Given the description of an element on the screen output the (x, y) to click on. 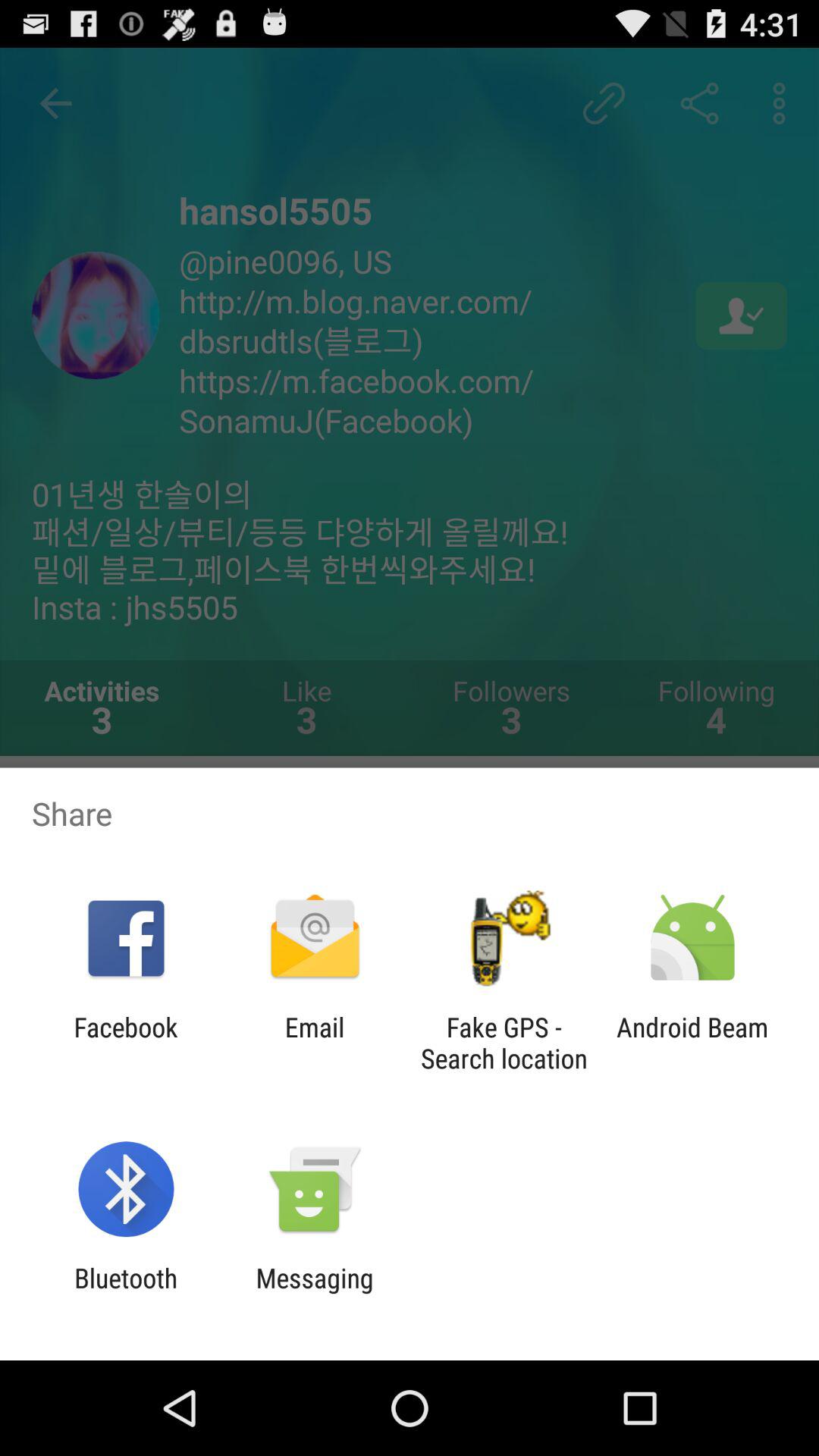
tap app to the right of facebook (314, 1042)
